Given the description of an element on the screen output the (x, y) to click on. 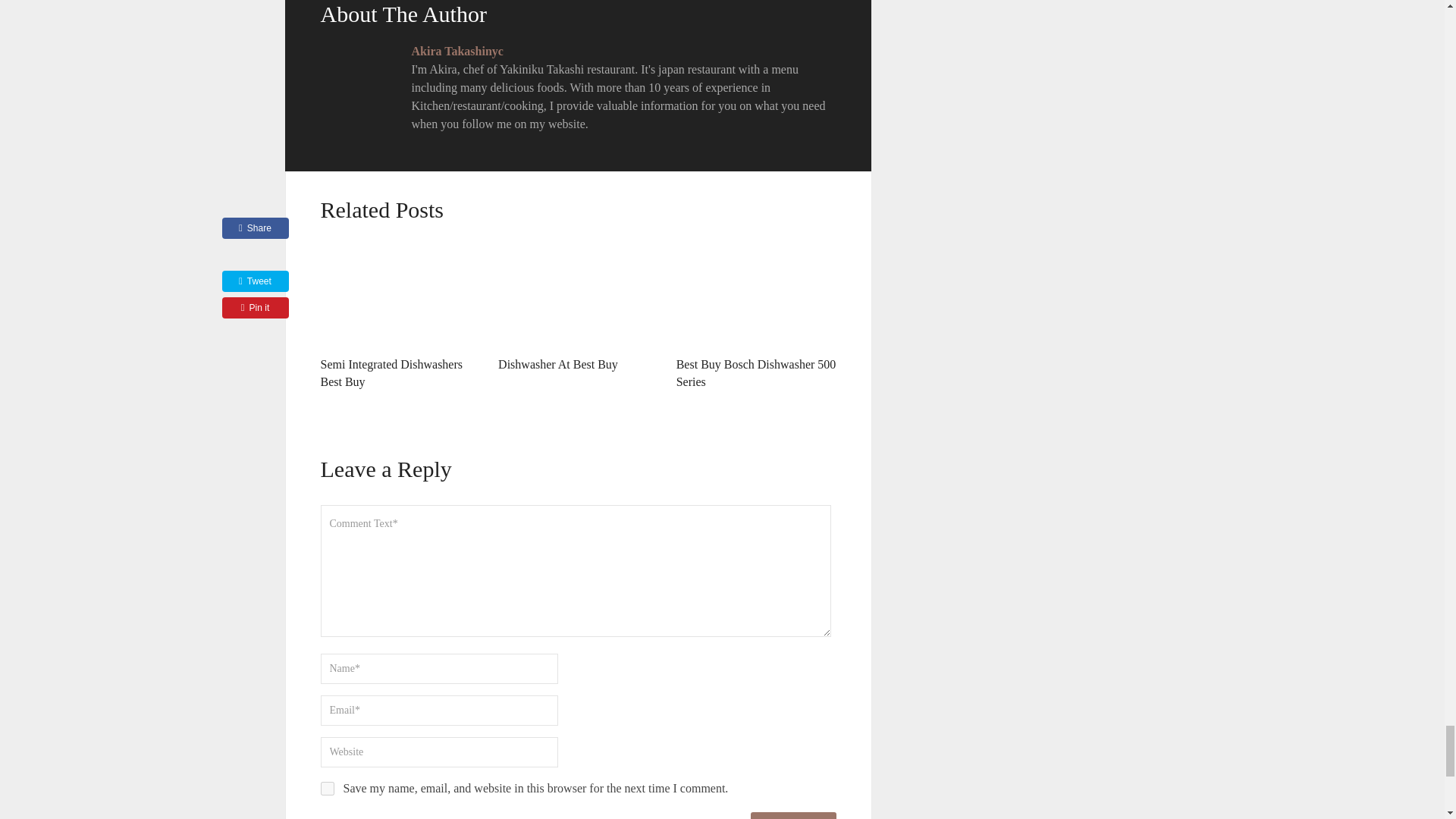
yes (326, 788)
Post Comment (793, 815)
